Given the description of an element on the screen output the (x, y) to click on. 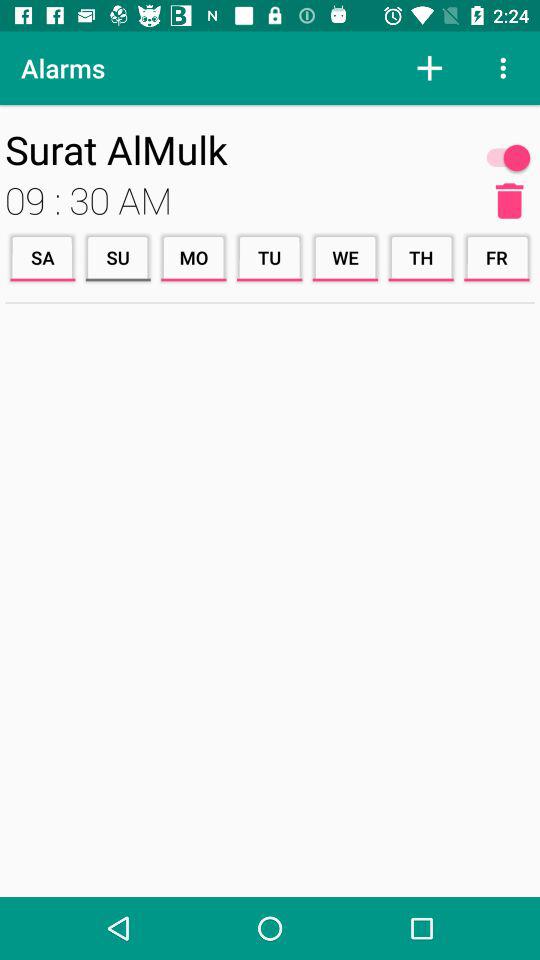
click the icon next to the mo item (118, 257)
